Given the description of an element on the screen output the (x, y) to click on. 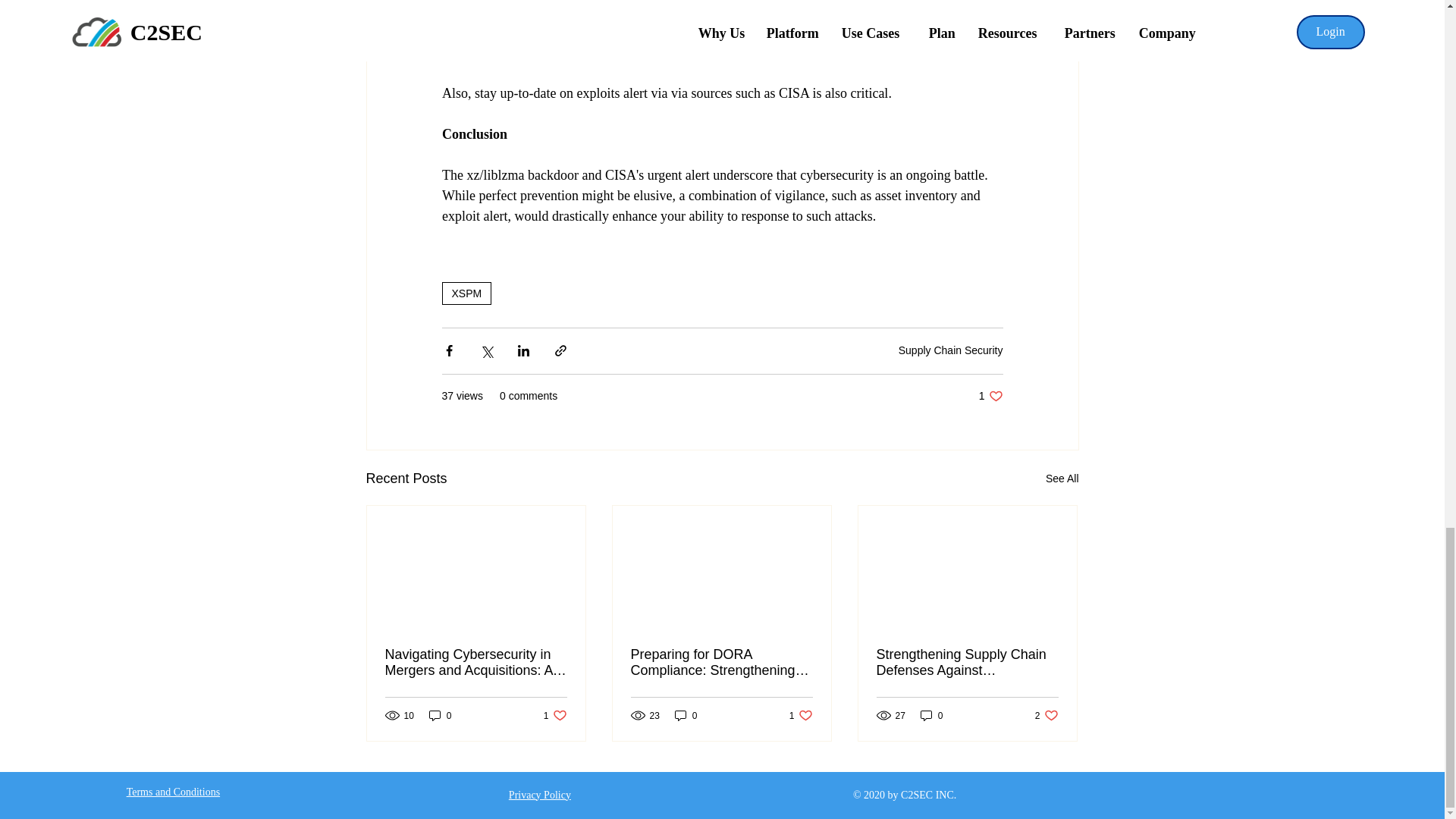
0 (440, 715)
0 (990, 396)
Supply Chain Security (800, 715)
See All (685, 715)
XSPM (950, 349)
